Given the description of an element on the screen output the (x, y) to click on. 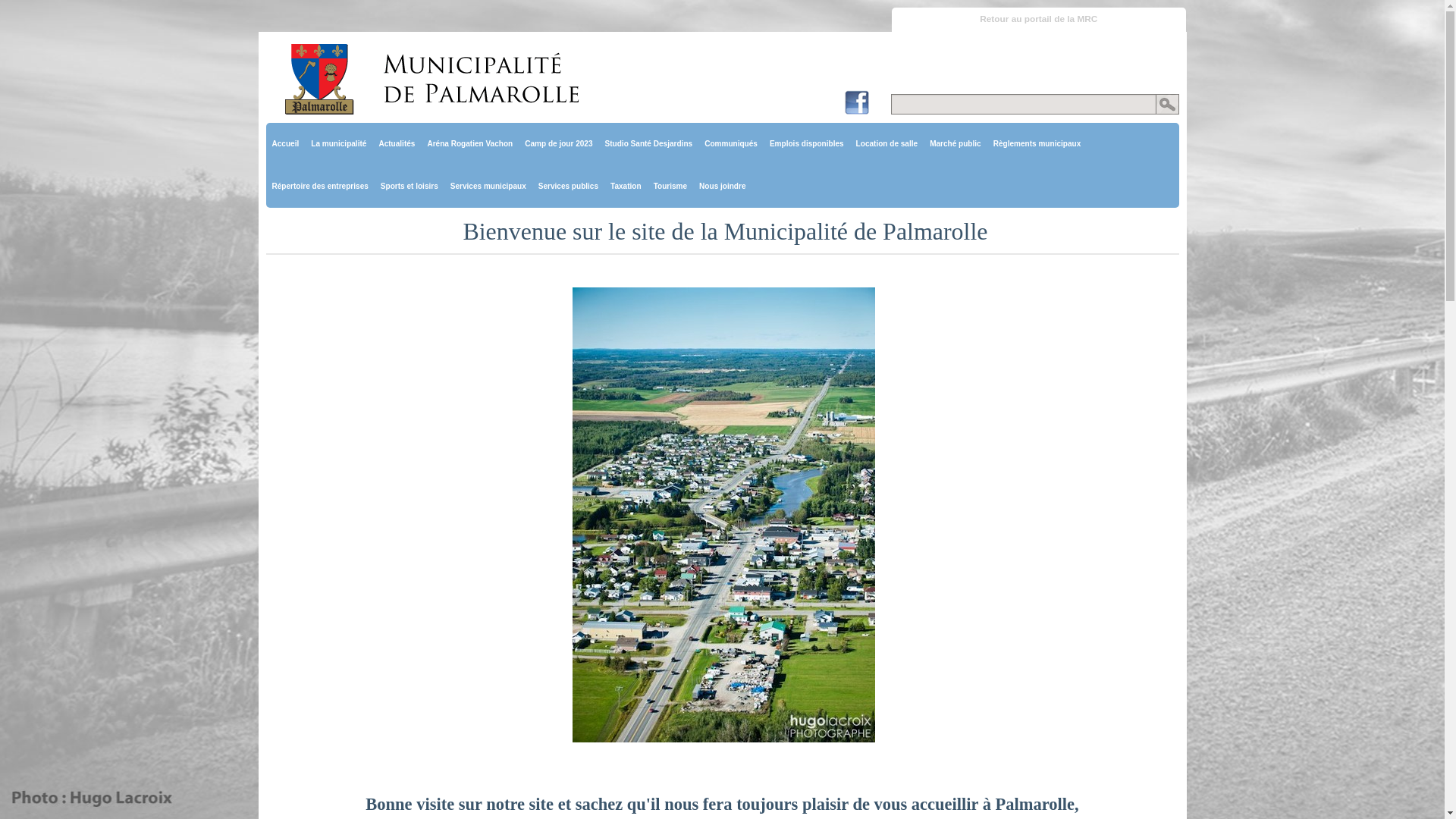
Sports et loisirs Element type: text (409, 186)
Camp de jour 2023 Element type: text (558, 143)
Emplois disponibles Element type: text (806, 143)
Nous joindre Element type: text (722, 186)
Accueil Element type: text (284, 143)
Services municipaux Element type: text (488, 186)
Tourisme Element type: text (670, 186)
Taxation Element type: text (625, 186)
Location de salle Element type: text (887, 143)
Retour au portail de la MRC Element type: text (1038, 19)
Services publics Element type: text (568, 186)
